Given the description of an element on the screen output the (x, y) to click on. 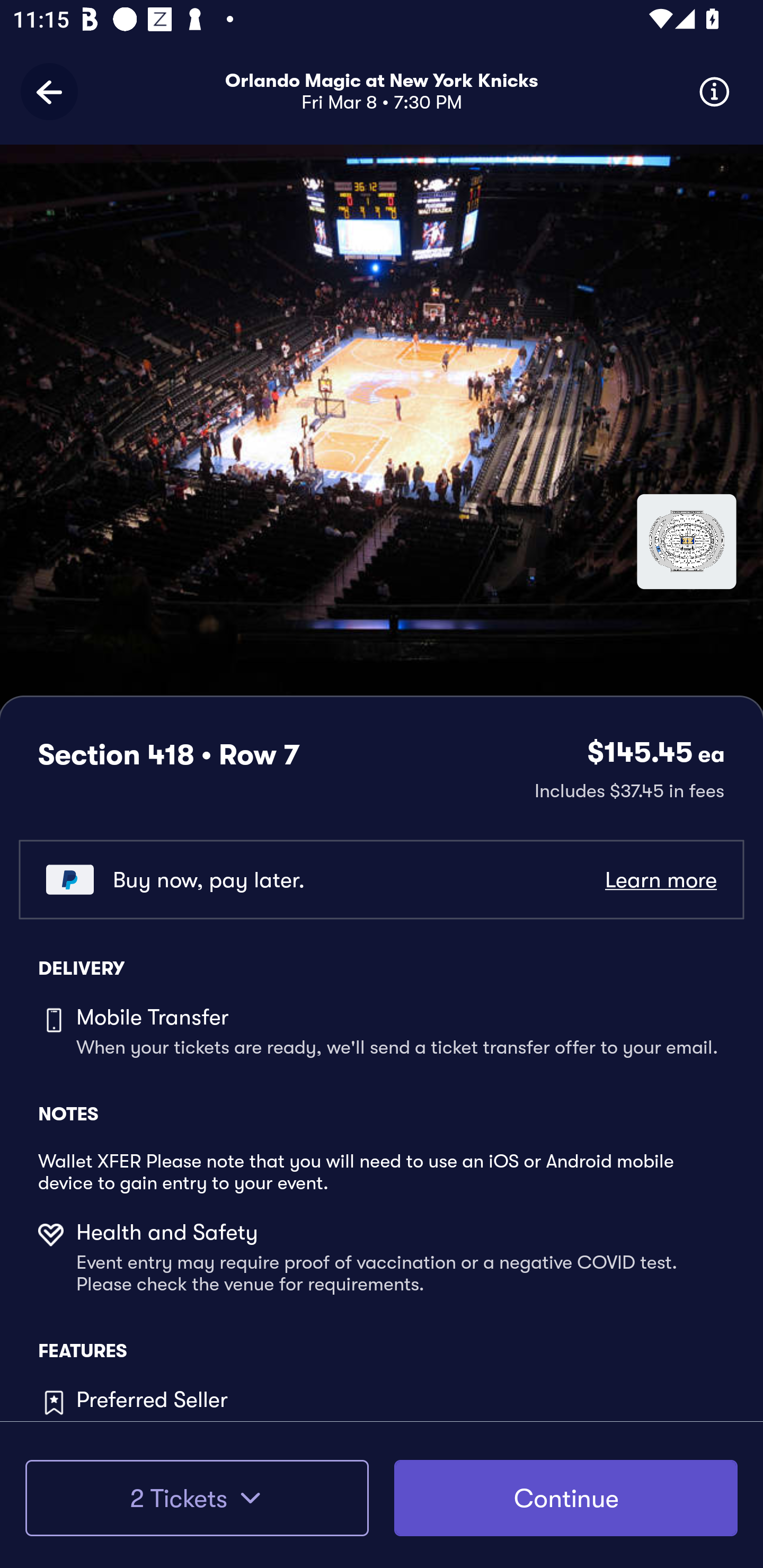
Learn more (660, 880)
2 Tickets (196, 1497)
Continue (565, 1497)
